Given the description of an element on the screen output the (x, y) to click on. 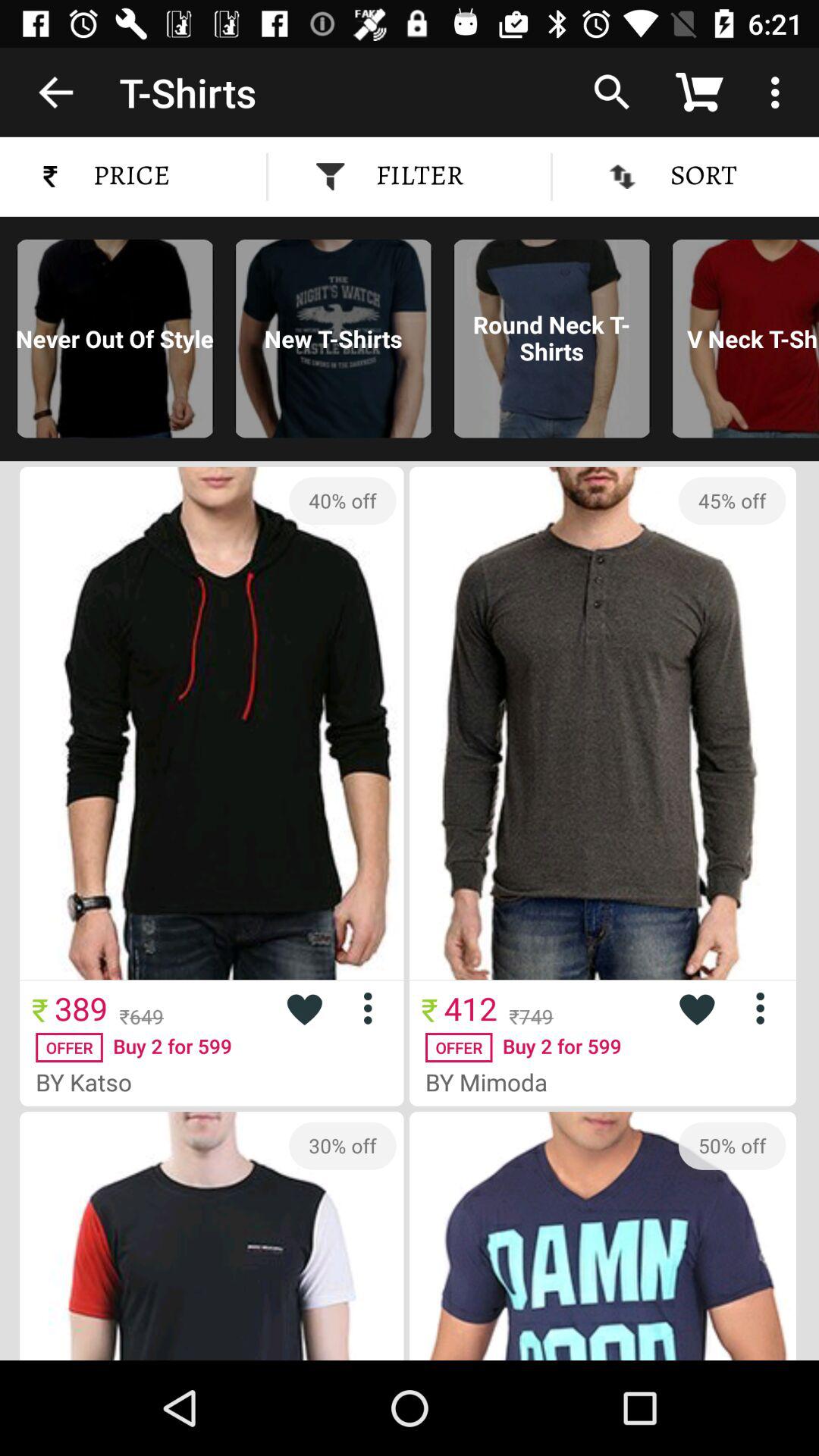
option (766, 1008)
